Given the description of an element on the screen output the (x, y) to click on. 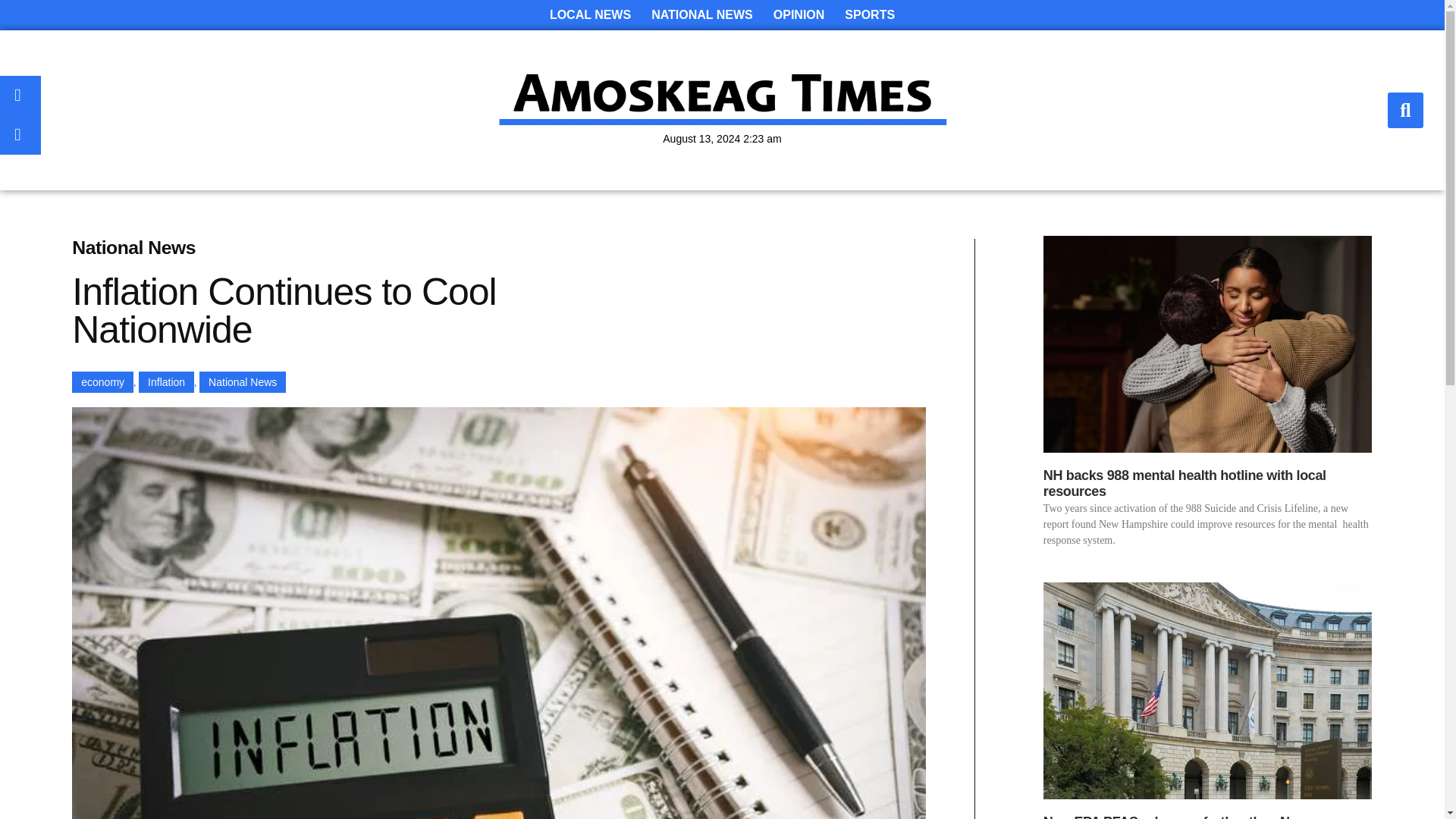
LOCAL NEWS (590, 15)
SPORTS (869, 15)
NH backs 988 mental health hotline with local resources (1184, 483)
economy (102, 382)
OPINION (798, 15)
NATIONAL NEWS (701, 15)
National News (242, 382)
Inflation (165, 382)
